Given the description of an element on the screen output the (x, y) to click on. 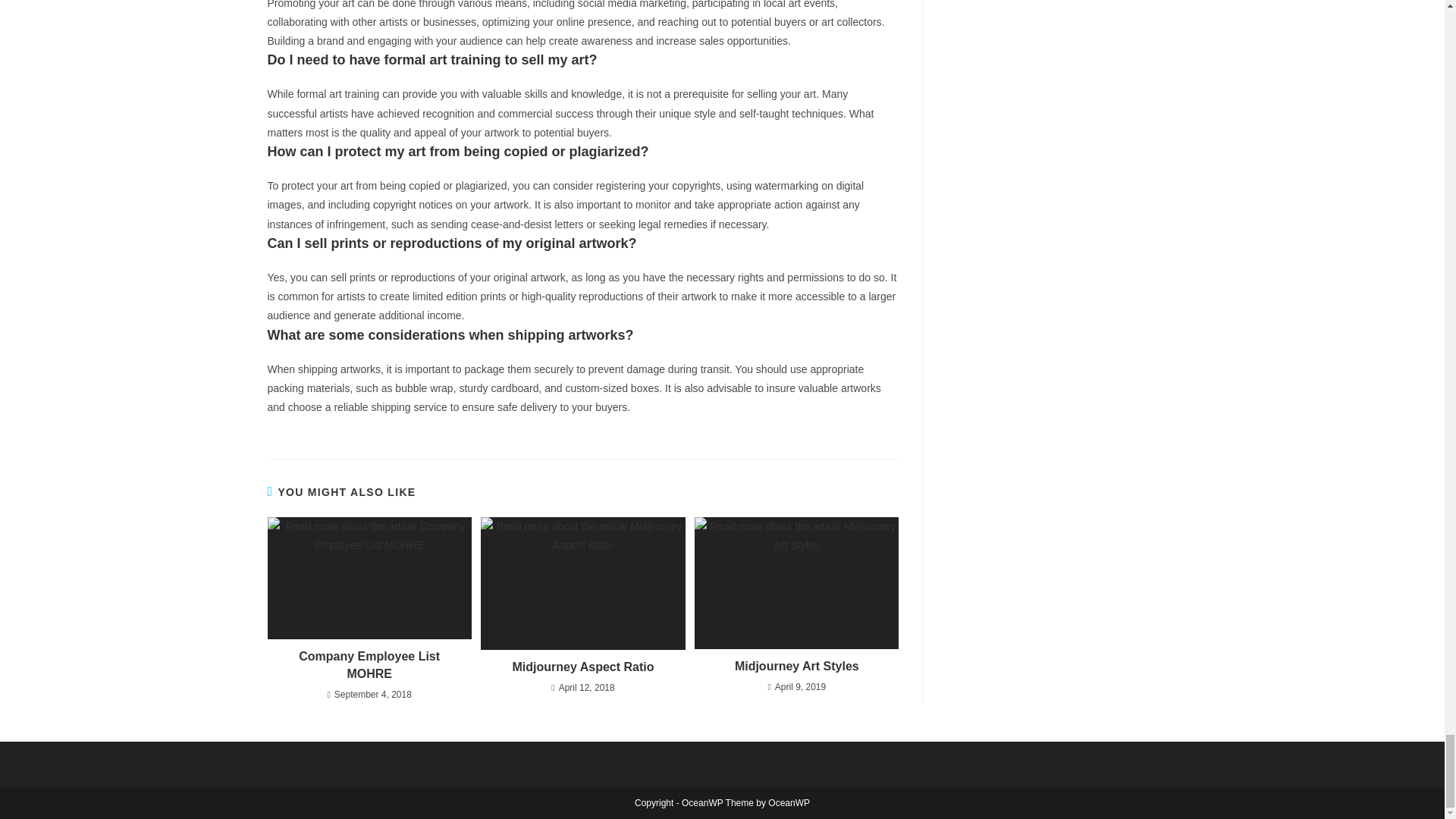
Company Employee List MOHRE (368, 665)
Midjourney Art Styles (796, 666)
Midjourney Aspect Ratio (582, 667)
